Given the description of an element on the screen output the (x, y) to click on. 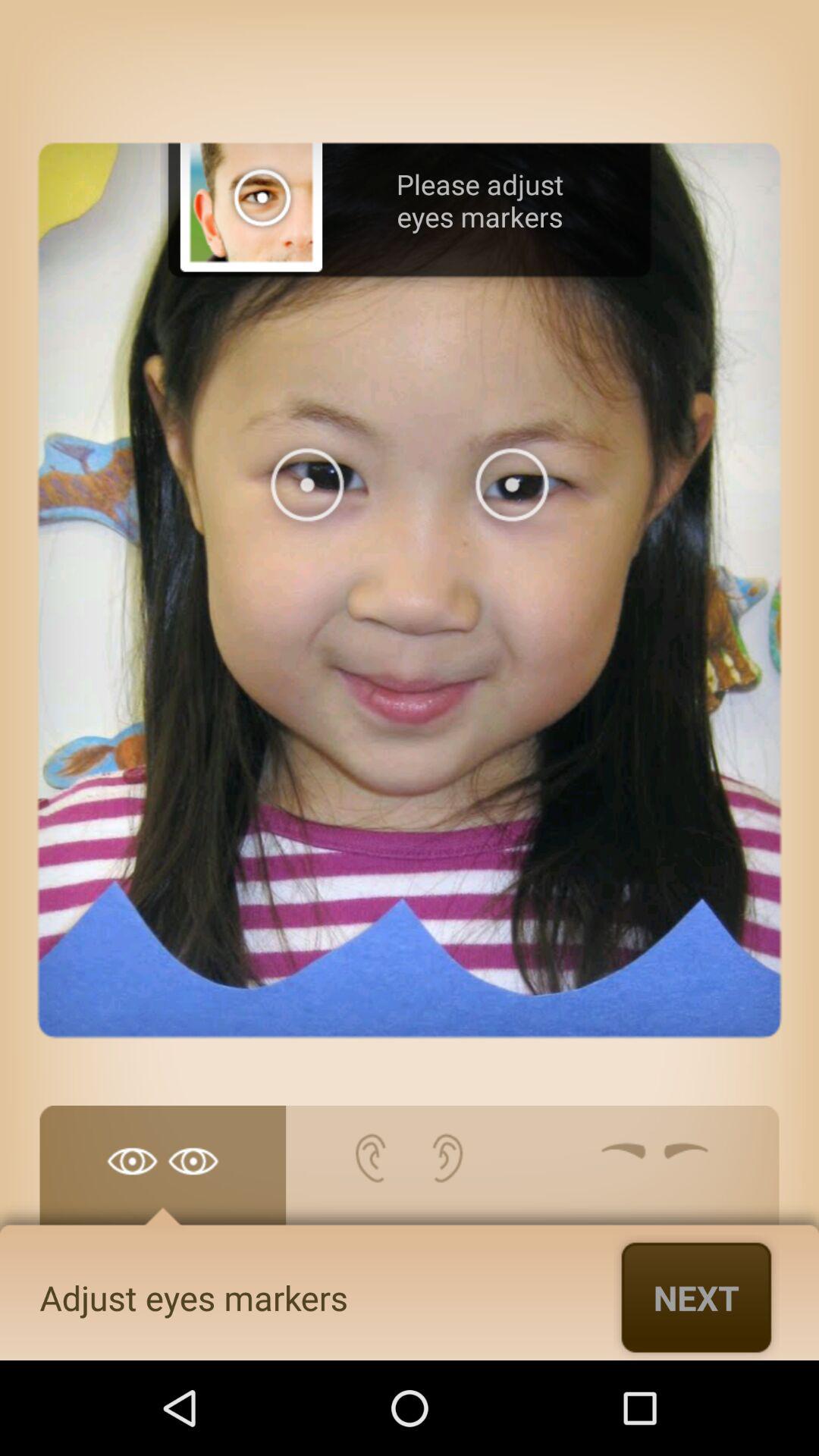
add eyebrows (655, 1173)
